Given the description of an element on the screen output the (x, y) to click on. 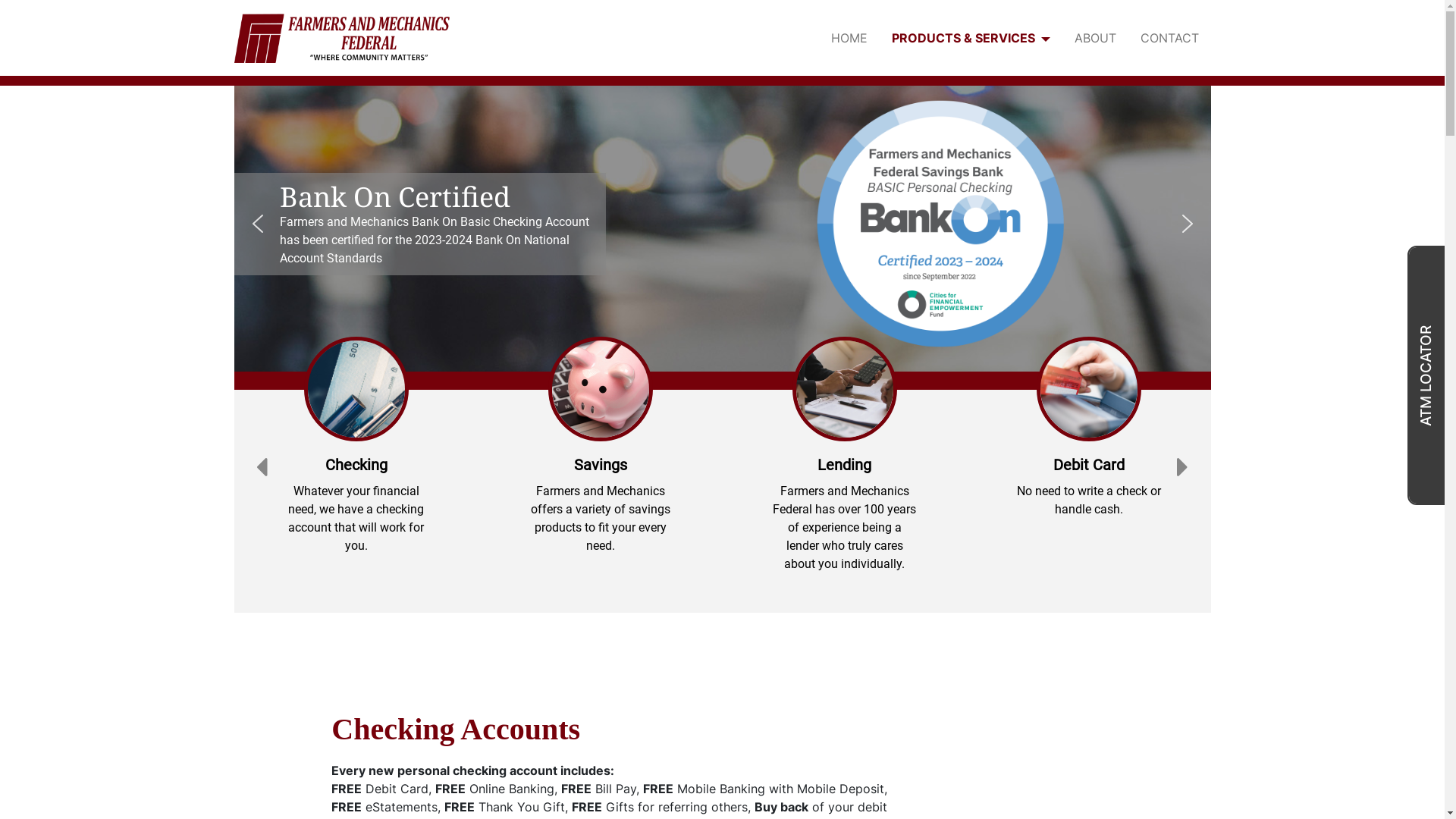
CONTACT Element type: text (1169, 37)
Farmers and Mechanics Federal Element type: hover (340, 36)
ABOUT Element type: text (1094, 37)
HOME Element type: text (849, 37)
PRODUCTS & SERVICES Element type: text (970, 37)
ATM LOCATOR Element type: text (1427, 375)
